Given the description of an element on the screen output the (x, y) to click on. 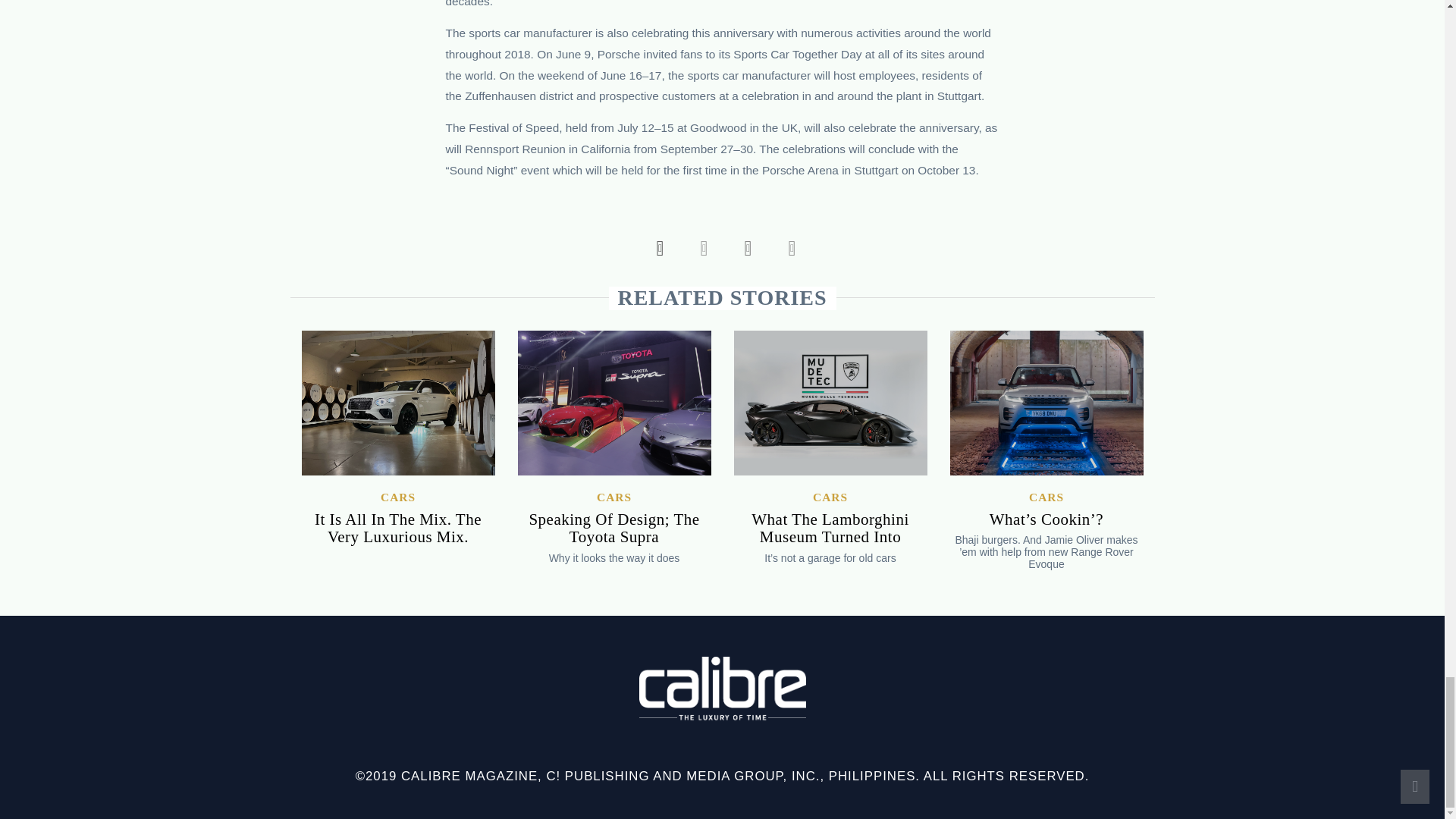
Google Plus (743, 247)
Twitter (699, 247)
Linked In (787, 247)
Facebook (655, 247)
CARS (397, 496)
